Given the description of an element on the screen output the (x, y) to click on. 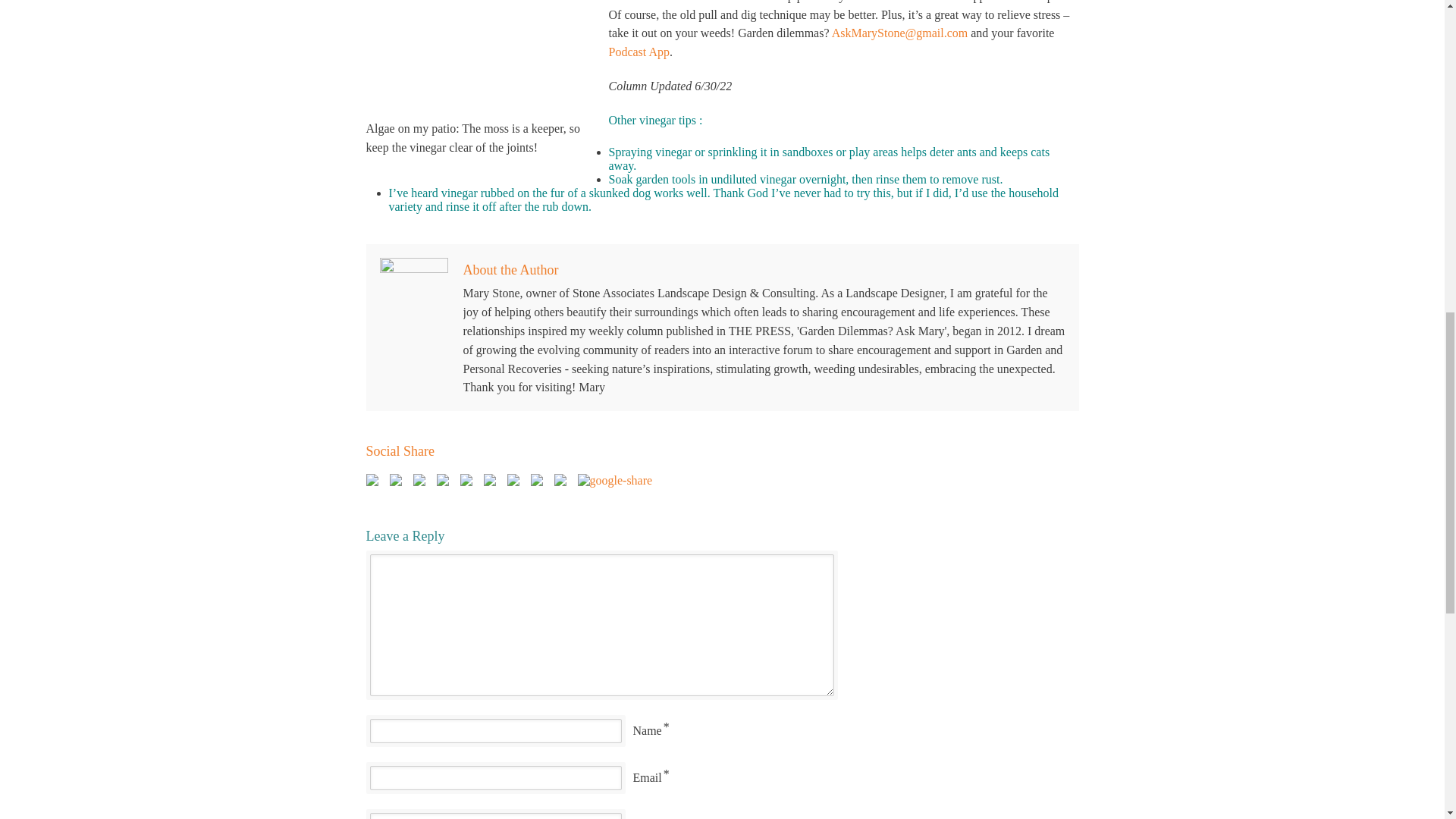
Podcast App (638, 51)
